Given the description of an element on the screen output the (x, y) to click on. 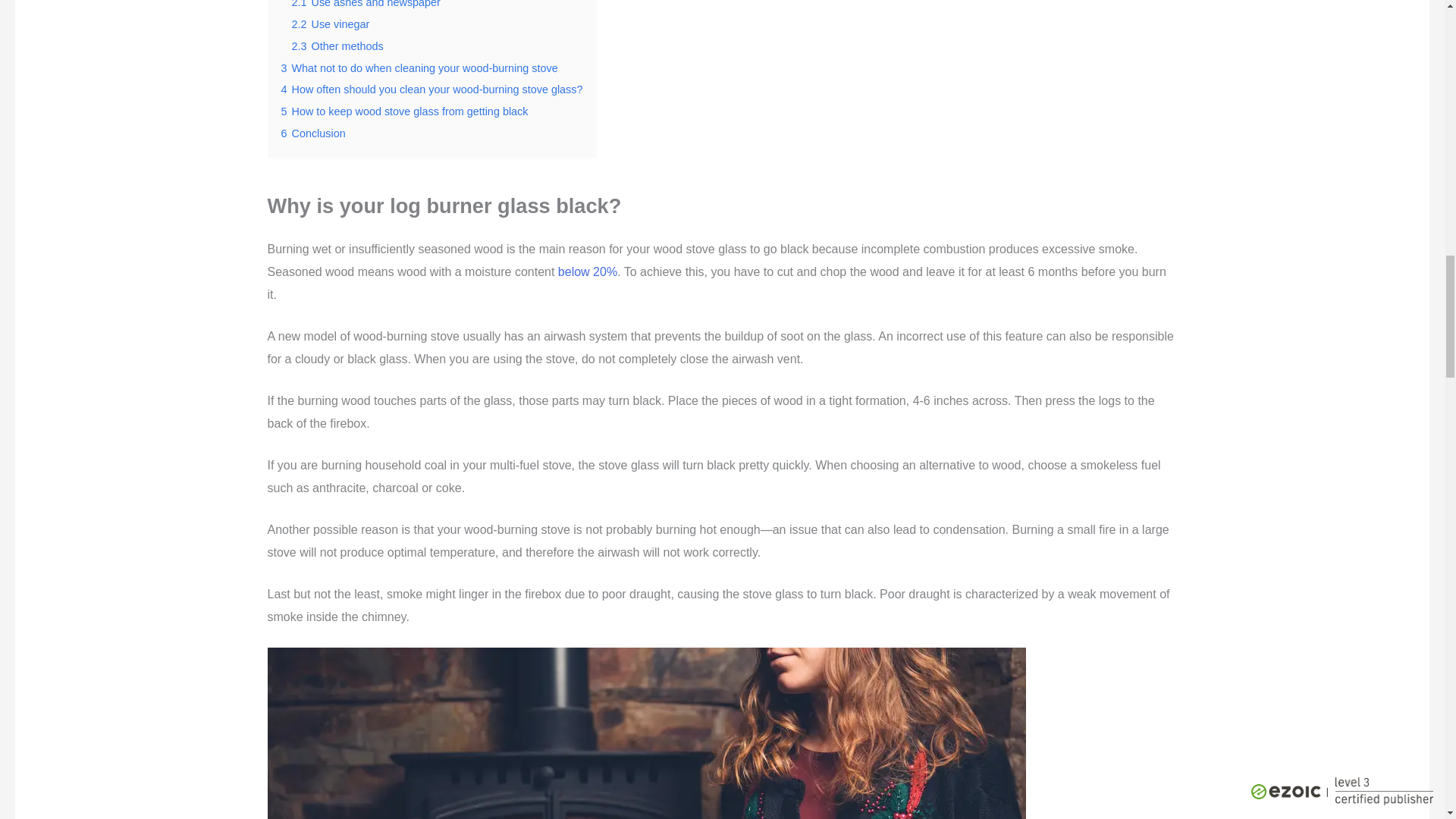
2.2 Use vinegar (330, 24)
2.3 Other methods (336, 46)
2.1 Use ashes and newspaper (365, 4)
